Given the description of an element on the screen output the (x, y) to click on. 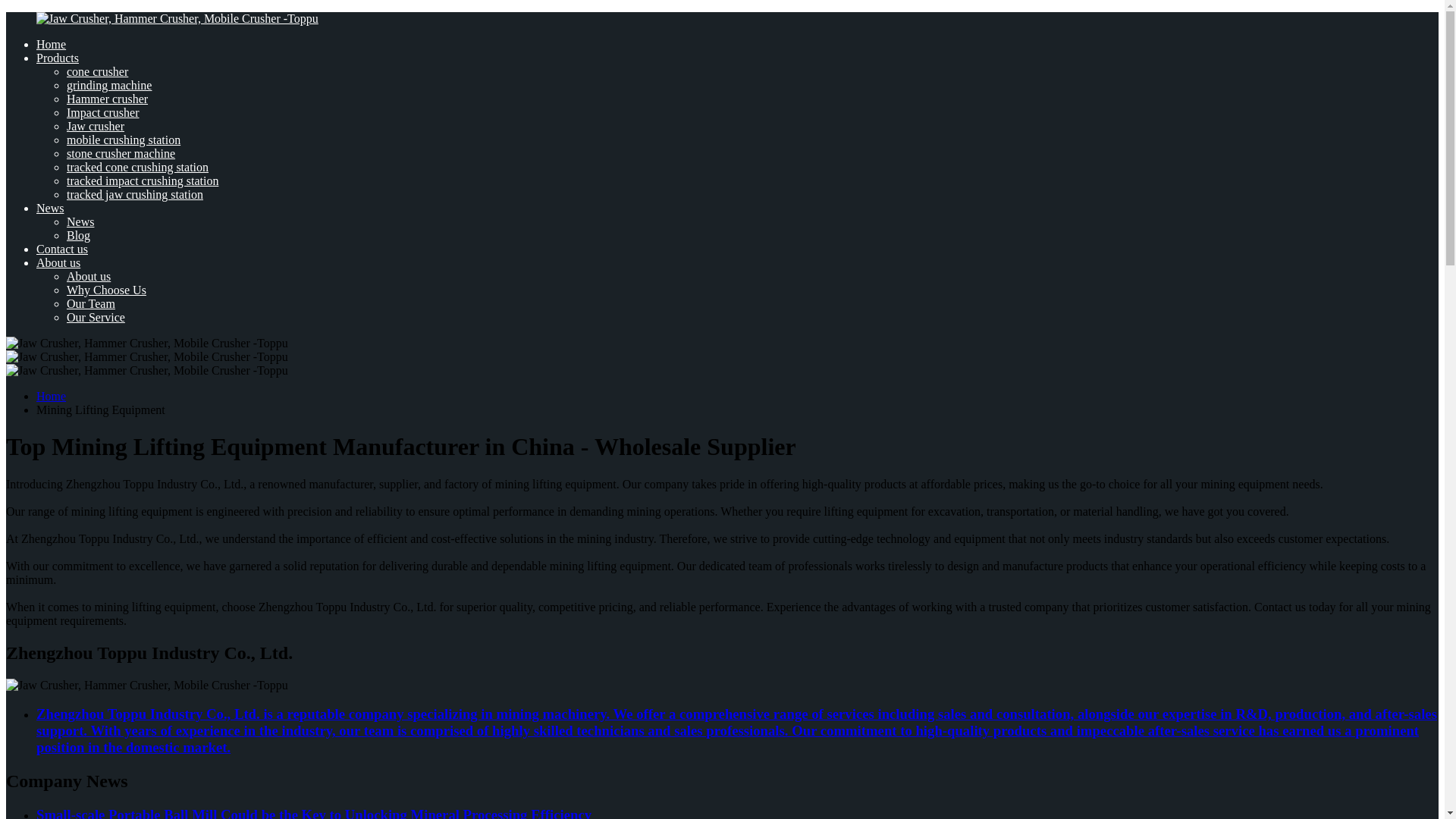
Our Team (90, 303)
News (50, 207)
About us (58, 262)
Our Service (95, 317)
Jaw crusher (94, 125)
Hammer crusher (107, 98)
stone crusher machine (120, 153)
News (80, 221)
Impact crusher (102, 112)
About us (88, 276)
cone crusher (97, 71)
Home (50, 43)
Contact us (61, 248)
Why Choose Us (106, 289)
tracked jaw crushing station (134, 194)
